Given the description of an element on the screen output the (x, y) to click on. 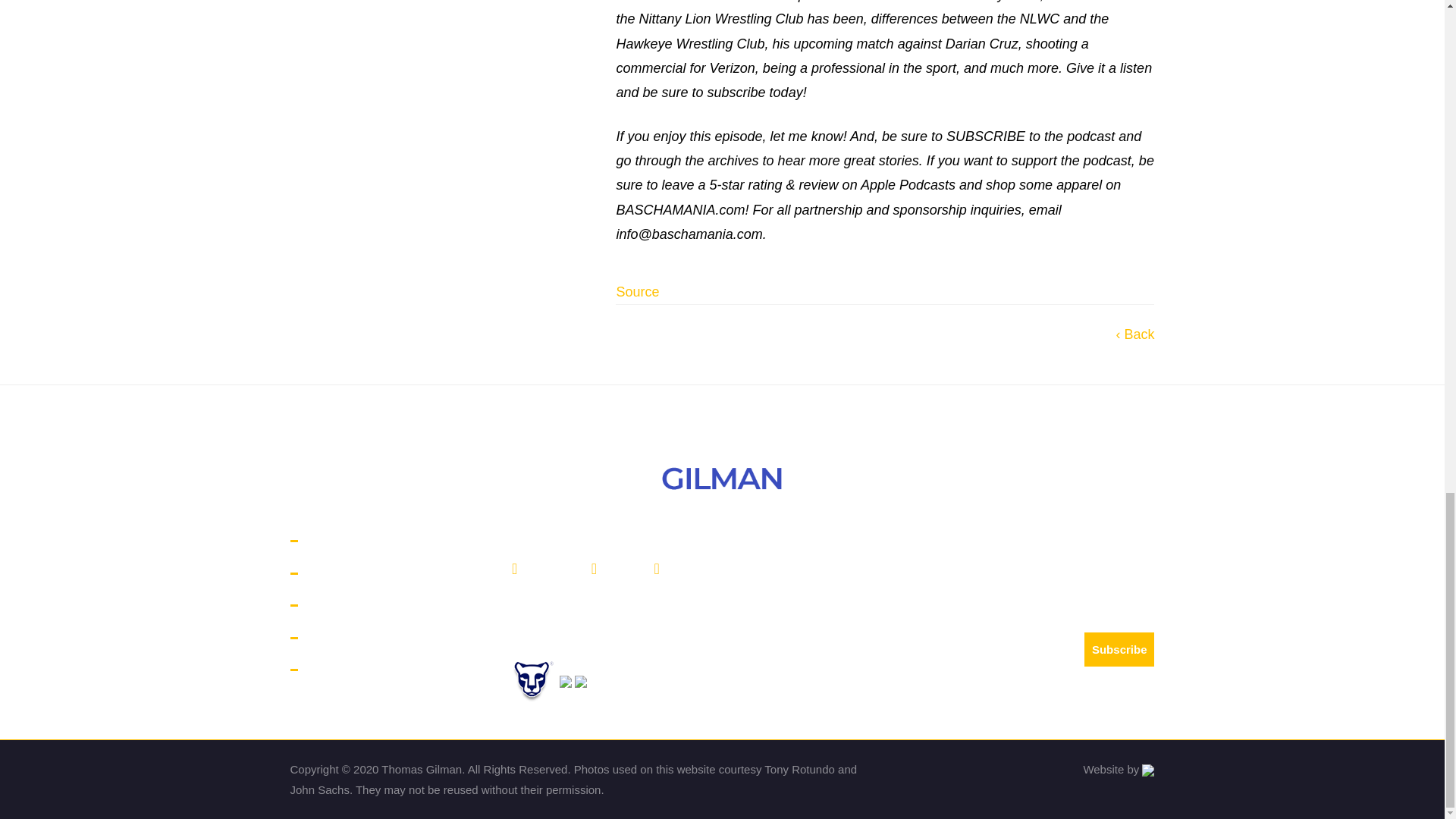
Facebook (544, 569)
Instagram (686, 569)
REACH OUT (344, 638)
FROM THE DESK OF (372, 670)
Source (637, 291)
Subscribe (1119, 649)
Subscribe (1119, 649)
ABOUT (328, 540)
SPONSORS (342, 573)
Twitter (617, 569)
